Given the description of an element on the screen output the (x, y) to click on. 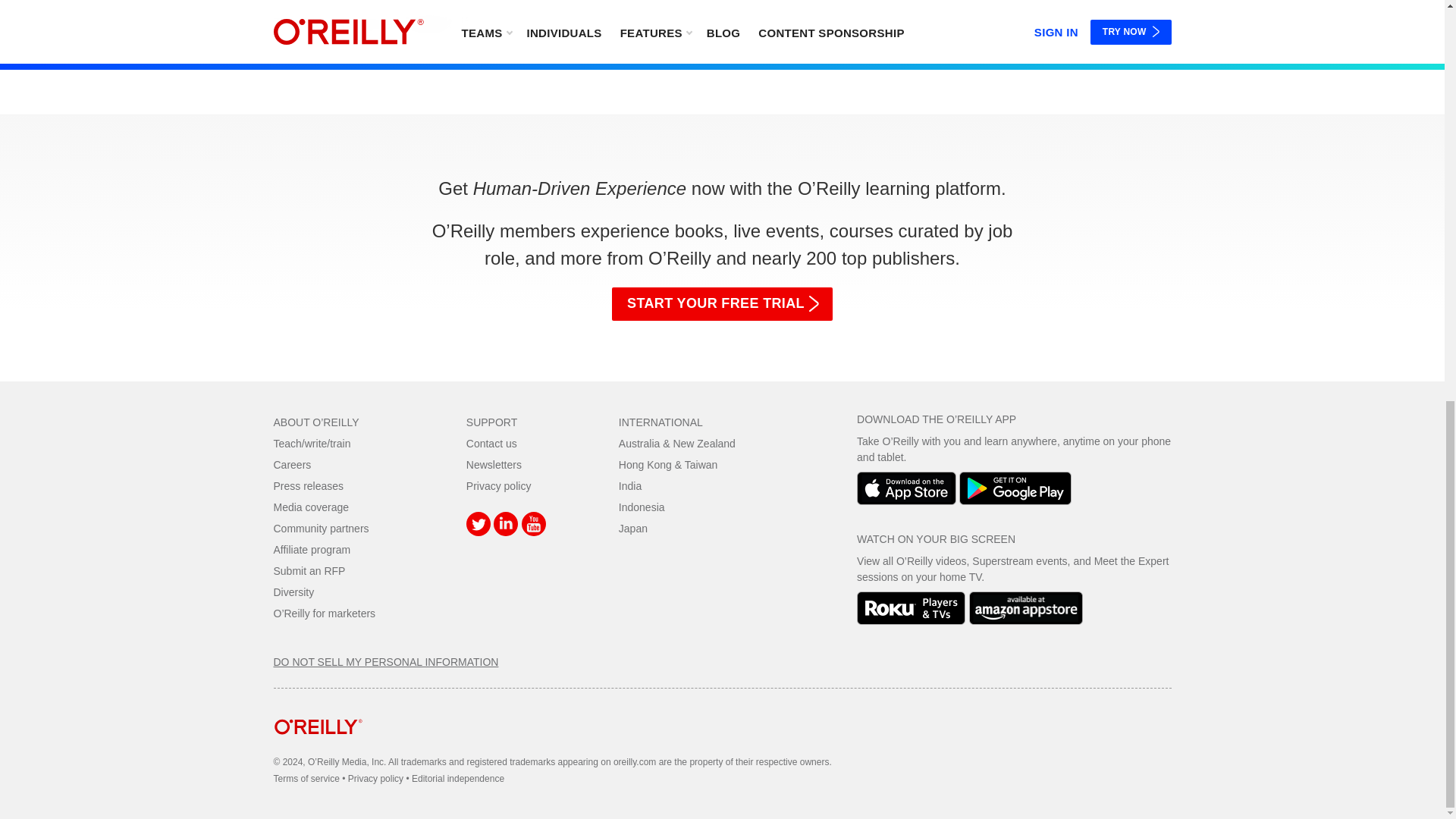
Privacy policy (498, 485)
home page (317, 745)
Community partners (320, 528)
Affiliate program (311, 549)
Press releases (308, 485)
Diversity (293, 592)
START YOUR FREE TRIAL (721, 304)
Submit an RFP (309, 571)
Media coverage (311, 507)
Contact us (490, 443)
